Given the description of an element on the screen output the (x, y) to click on. 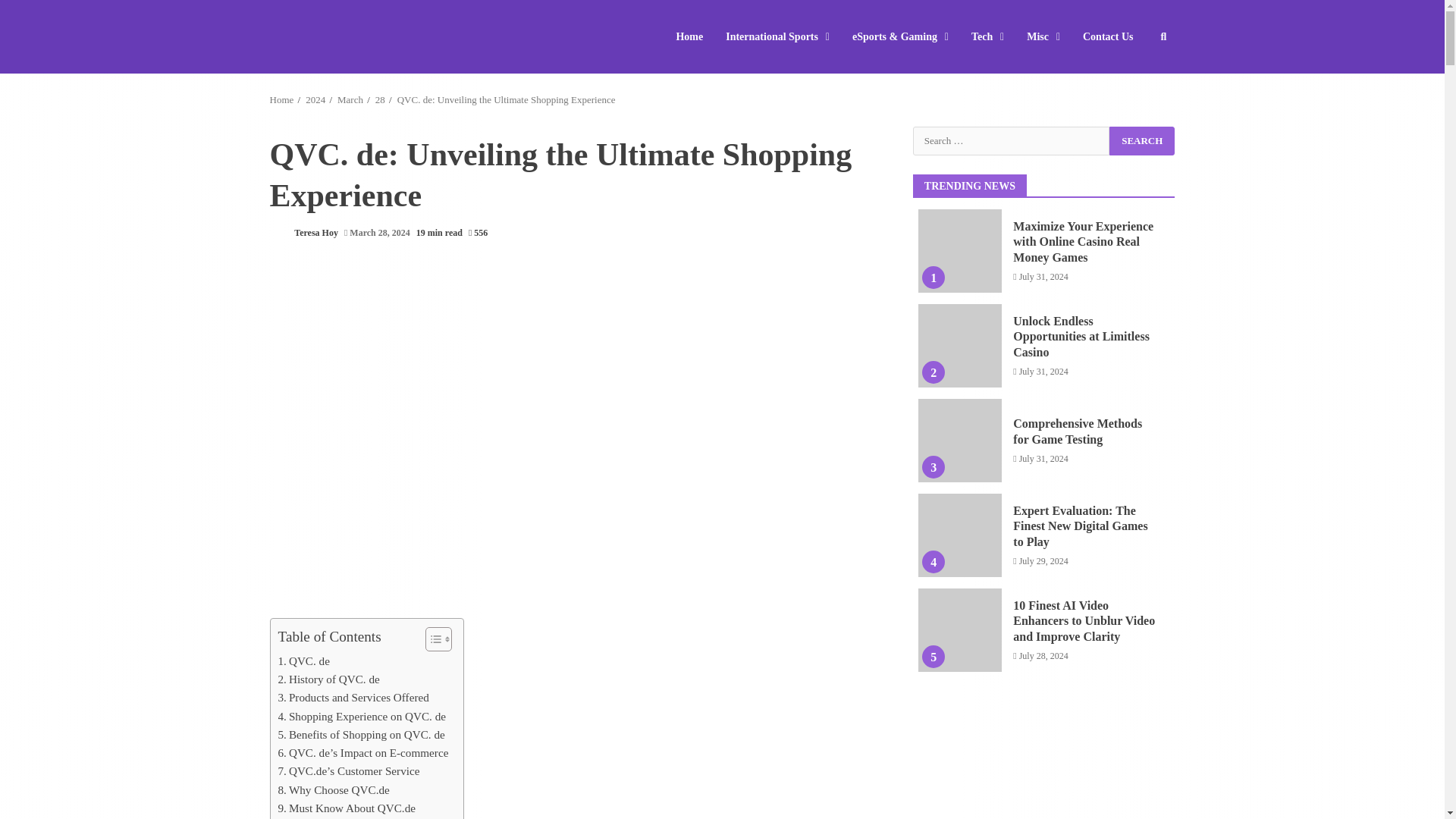
556 (477, 233)
2024 (314, 99)
Contact Us (1102, 36)
Products and Services Offered (353, 697)
Search (1141, 140)
Home (694, 36)
Misc (1042, 36)
Benefits of Shopping on QVC. de (361, 734)
QVC. de (303, 660)
March (349, 99)
Home (281, 99)
Must Know About QVC.de (346, 808)
History of QVC. de (328, 679)
Tech (986, 36)
Teresa Hoy (303, 233)
